Given the description of an element on the screen output the (x, y) to click on. 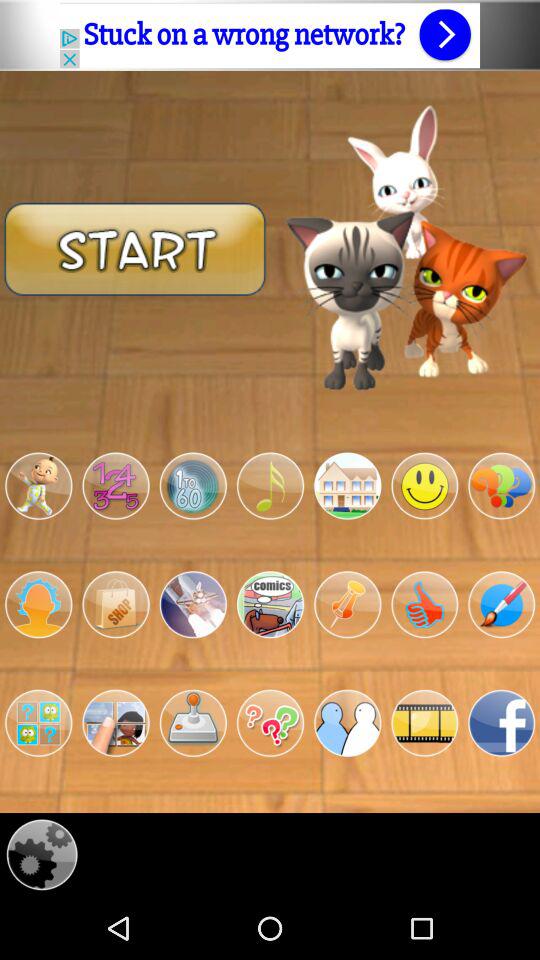
game function option (115, 723)
